Given the description of an element on the screen output the (x, y) to click on. 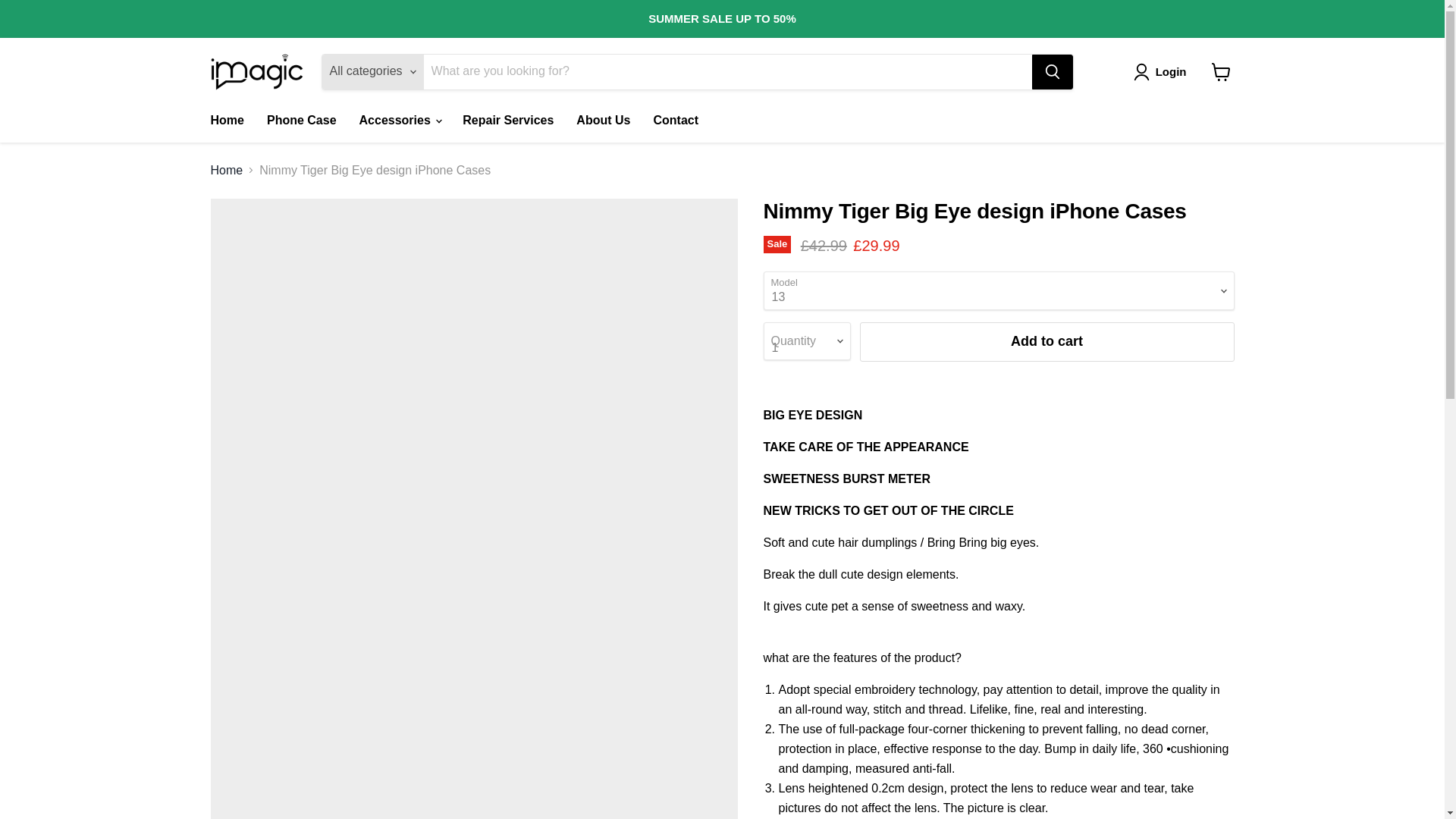
View cart (1221, 70)
About Us (603, 120)
Contact (676, 120)
Home (226, 120)
Home (227, 170)
Phone Case (301, 120)
Login (1163, 72)
Repair Services (507, 120)
